Given the description of an element on the screen output the (x, y) to click on. 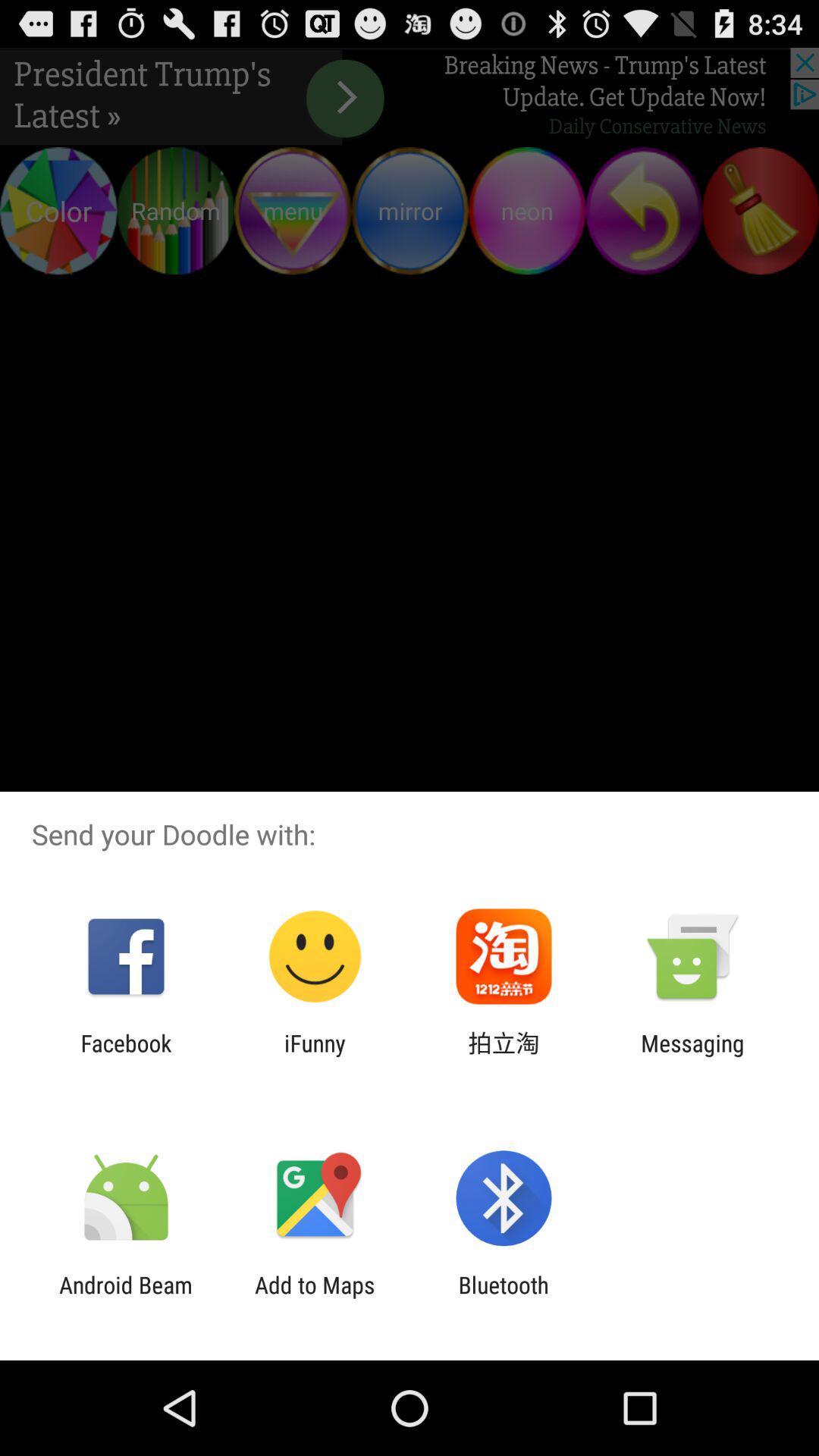
turn off the app to the right of ifunny icon (503, 1056)
